Given the description of an element on the screen output the (x, y) to click on. 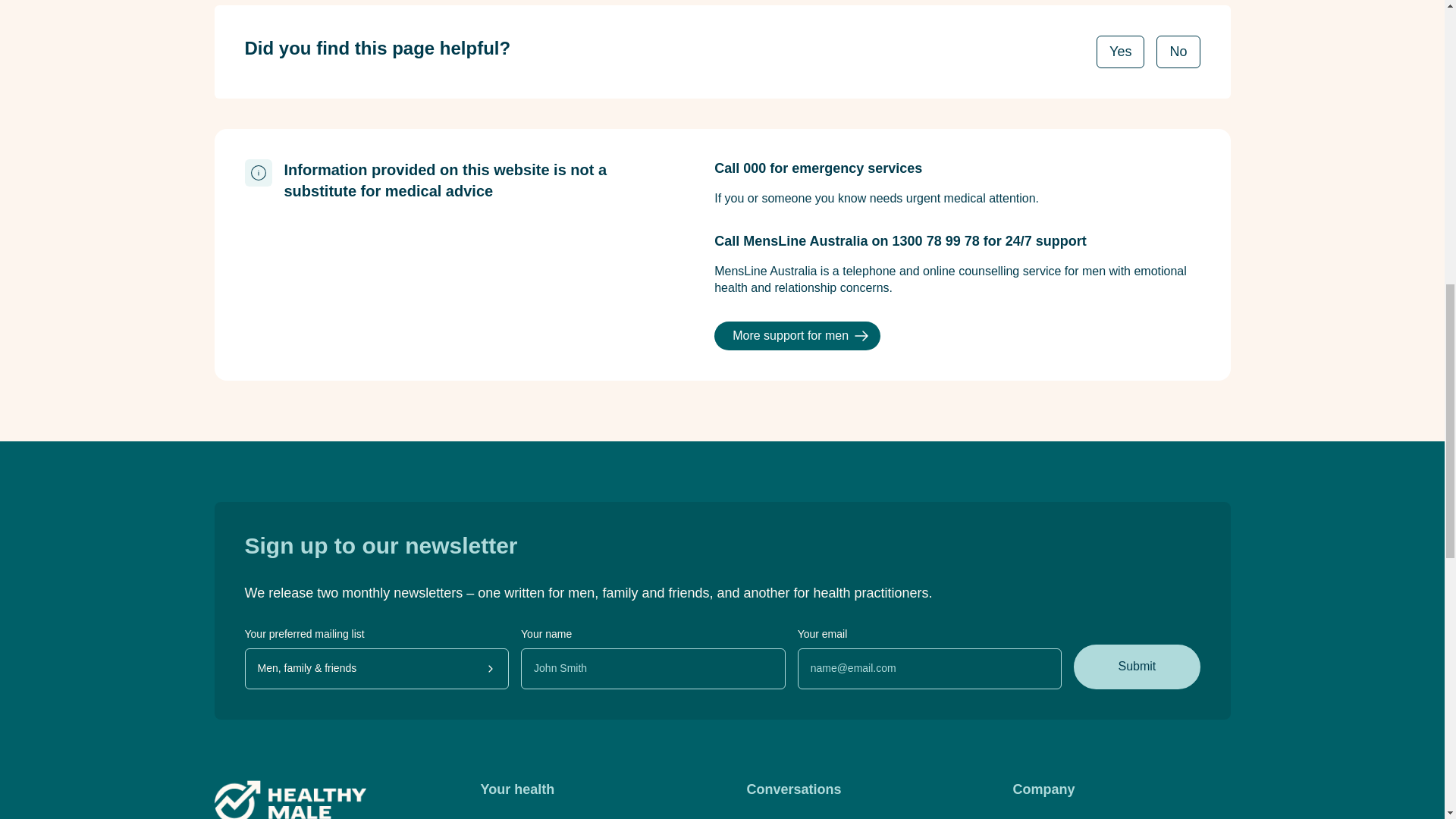
Submit (1136, 666)
No (1177, 51)
More support for men (797, 335)
Yes (1120, 51)
